Given the description of an element on the screen output the (x, y) to click on. 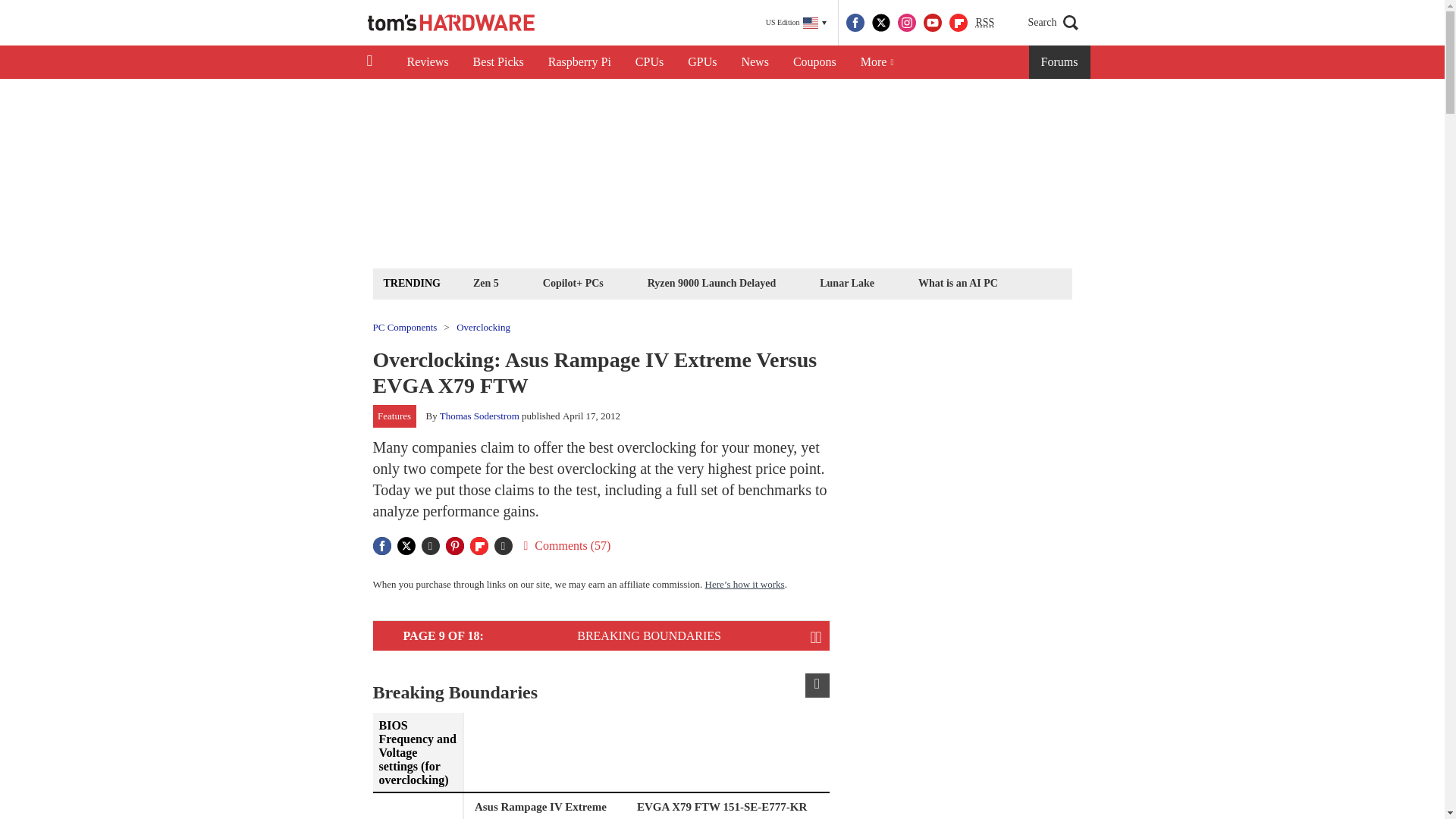
Coupons (814, 61)
Best Picks (498, 61)
RSS (984, 22)
Zen 5 (485, 282)
CPUs (649, 61)
Really Simple Syndication (984, 21)
Raspberry Pi (579, 61)
Reviews (427, 61)
Forums (1059, 61)
News (754, 61)
US Edition (796, 22)
GPUs (702, 61)
